Given the description of an element on the screen output the (x, y) to click on. 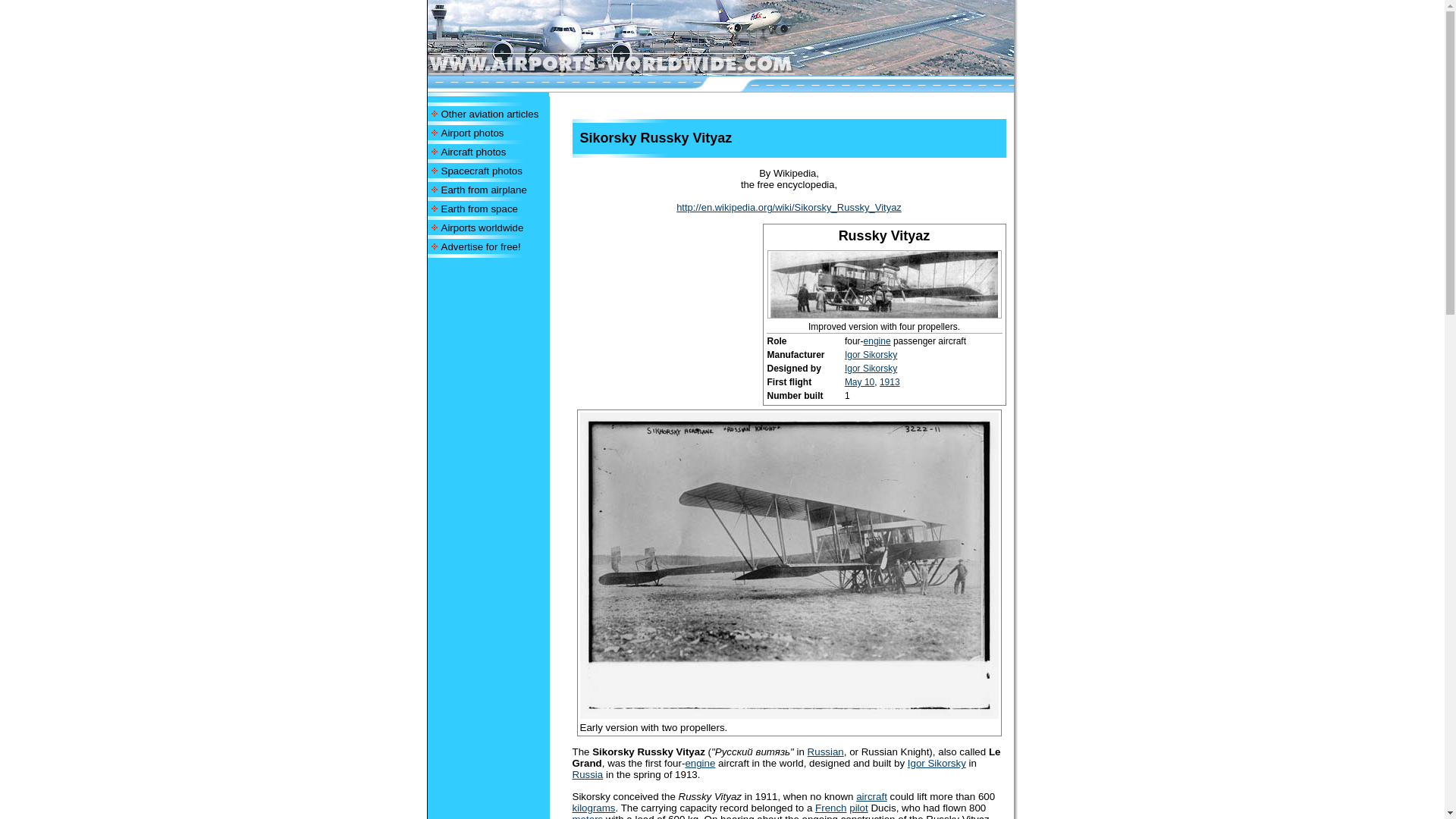
engine (877, 340)
Other aviation articles (489, 112)
French people (830, 808)
Earth from airplane (484, 188)
Engine (699, 763)
Igor Sikorsky (936, 763)
Igor Sikorsky (870, 368)
kilograms (593, 808)
Aircraft (871, 796)
Spacecraft photos (481, 170)
